Given the description of an element on the screen output the (x, y) to click on. 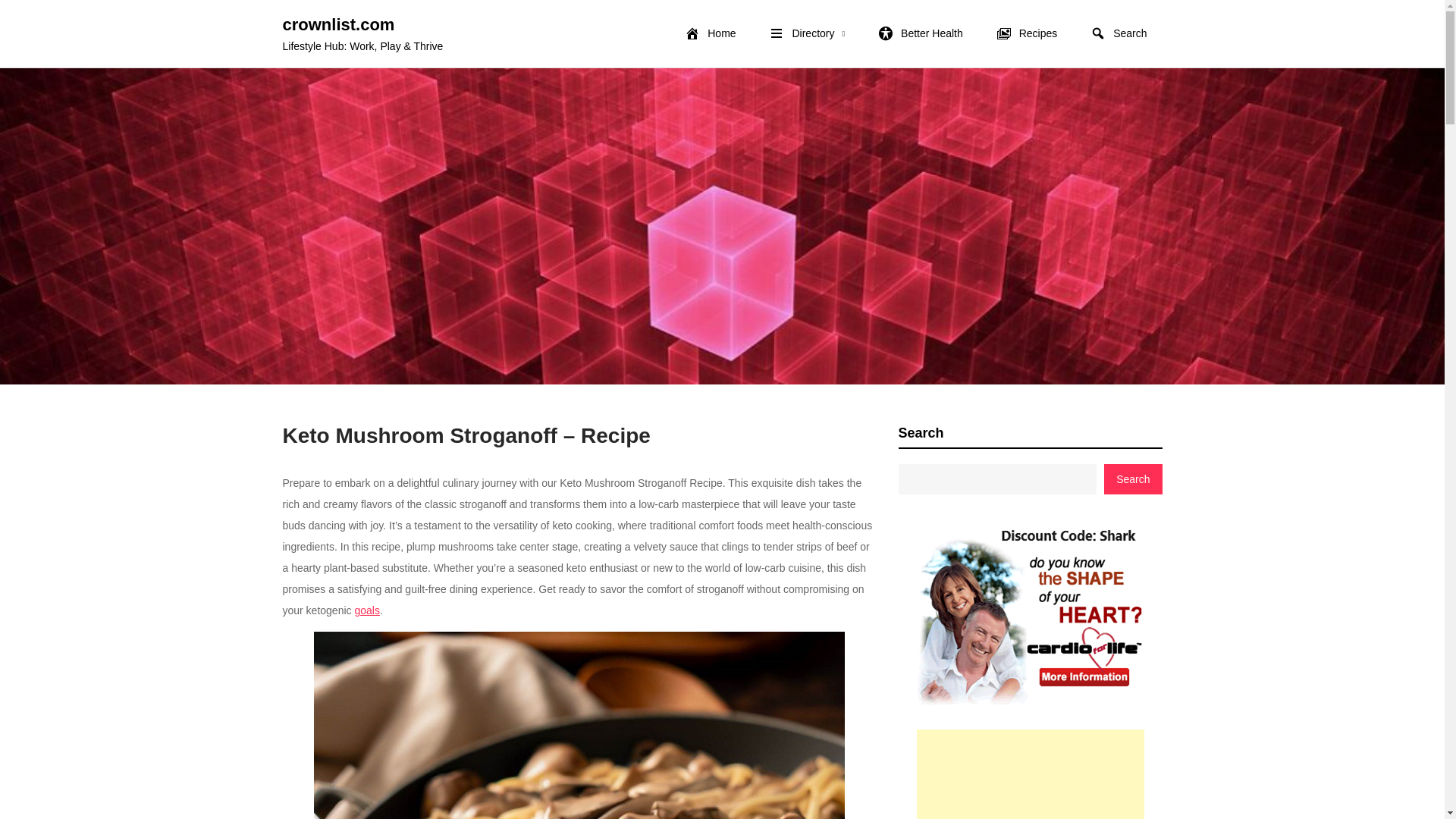
Recipes (1027, 33)
crownlist.com (338, 24)
Search (1118, 33)
goals (365, 610)
Better Health (920, 33)
Directory (807, 33)
Advertisement (1028, 774)
Home (710, 33)
